Given the description of an element on the screen output the (x, y) to click on. 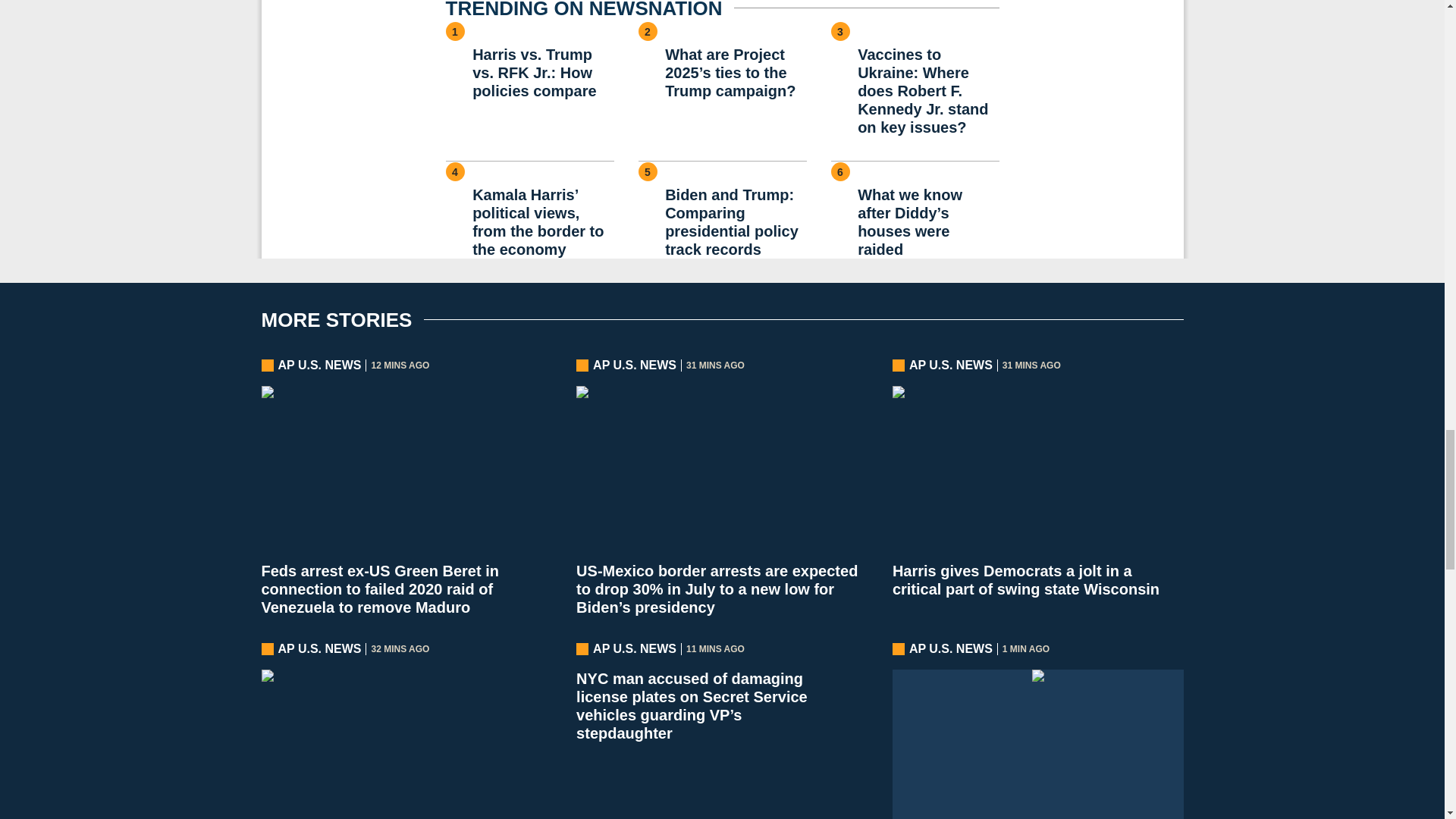
AP U.S. NEWS (319, 365)
AP U.S. NEWS (634, 648)
AP U.S. NEWS (319, 648)
AP U.S. NEWS (950, 648)
AP U.S. NEWS (950, 365)
AP U.S. NEWS (634, 365)
Harris vs. Trump vs. RFK Jr.: How policies compare (541, 72)
